Given the description of an element on the screen output the (x, y) to click on. 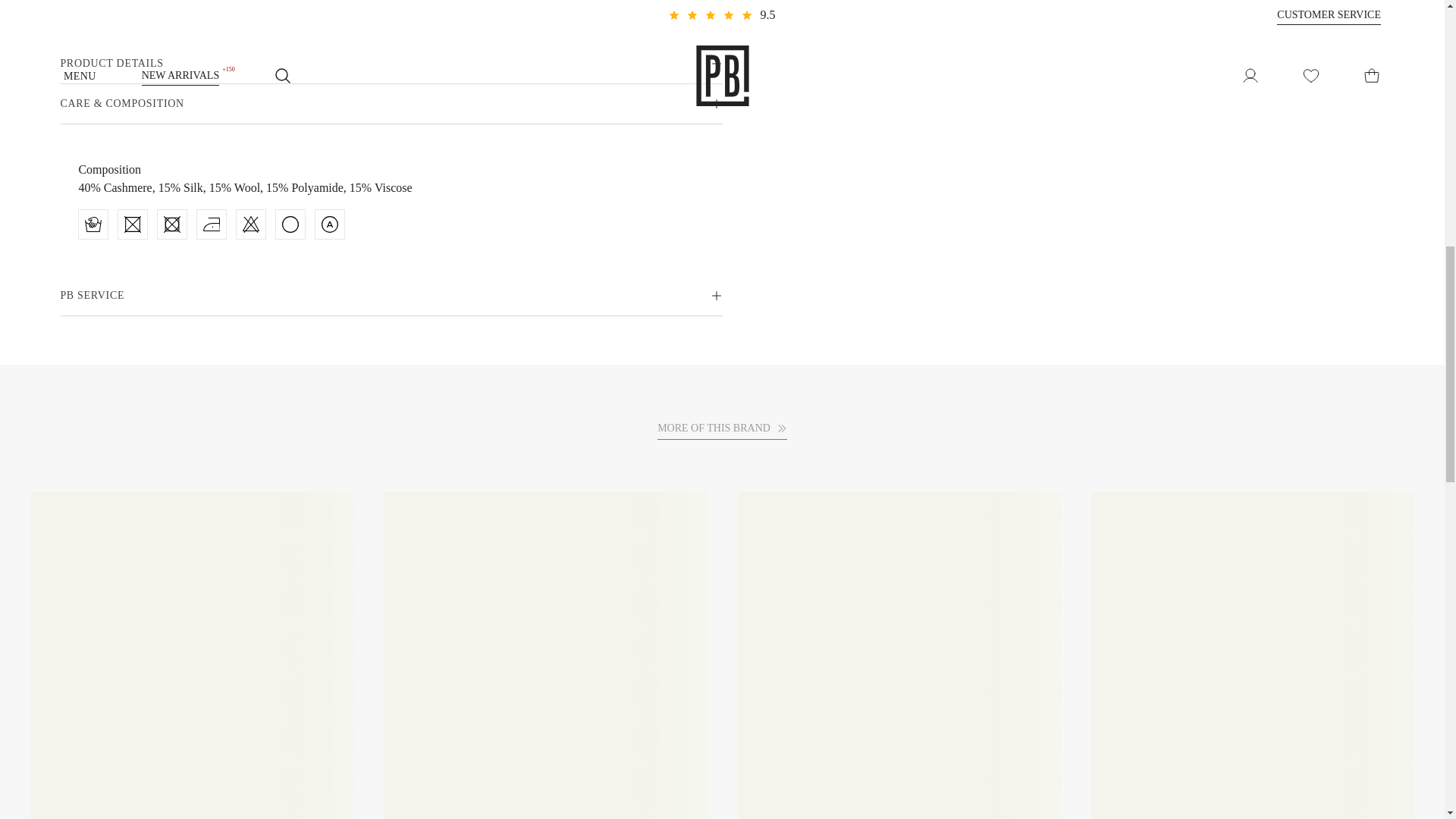
Dry clean (290, 224)
Iron low temperature (211, 223)
Dry clean, all solvents (329, 224)
Do not bleach (251, 224)
Do not tumble dry (132, 224)
Do not dry in the dryer (171, 224)
Hand wash (92, 224)
